Given the description of an element on the screen output the (x, y) to click on. 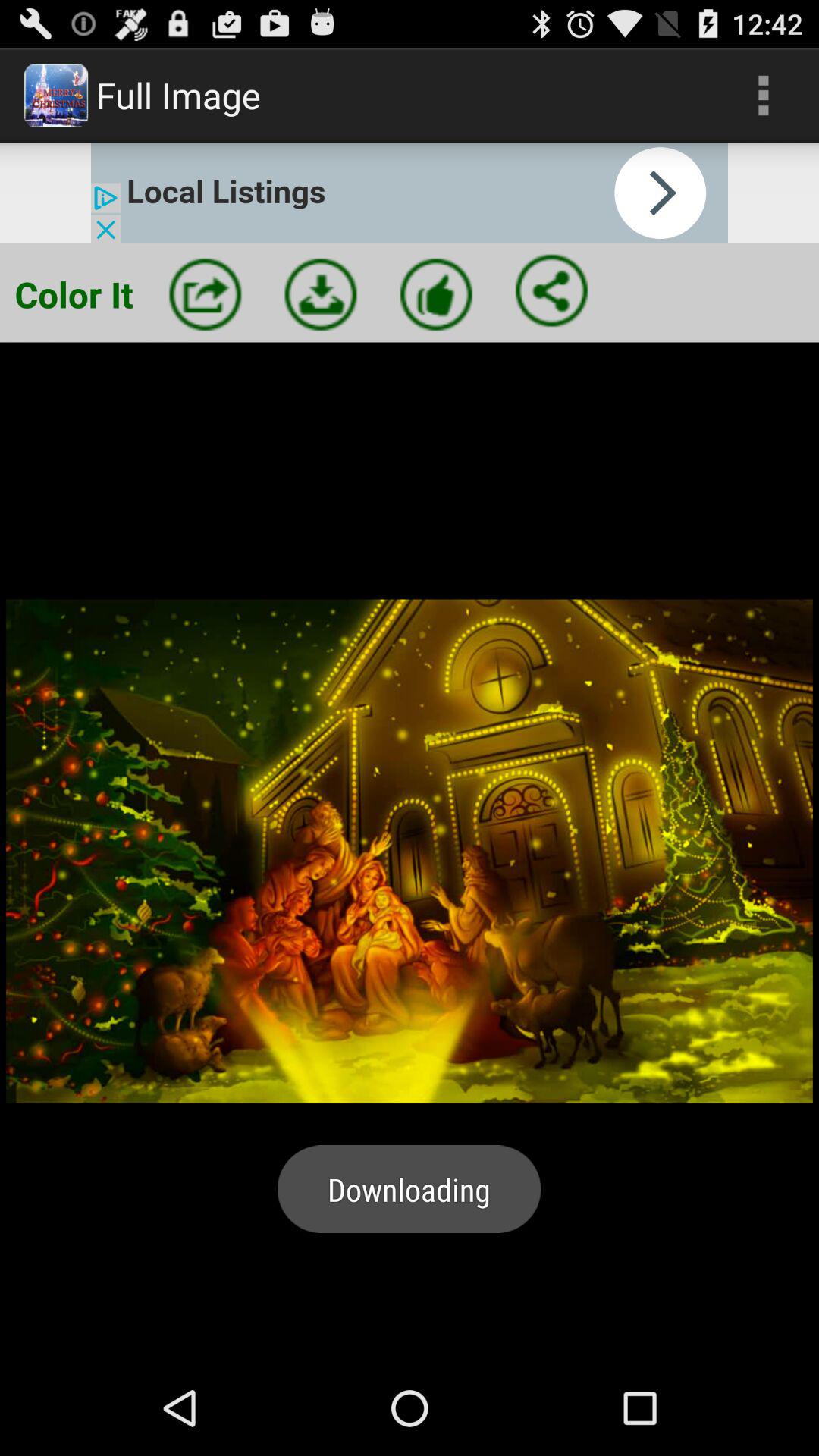
share wallpaper (205, 294)
